Given the description of an element on the screen output the (x, y) to click on. 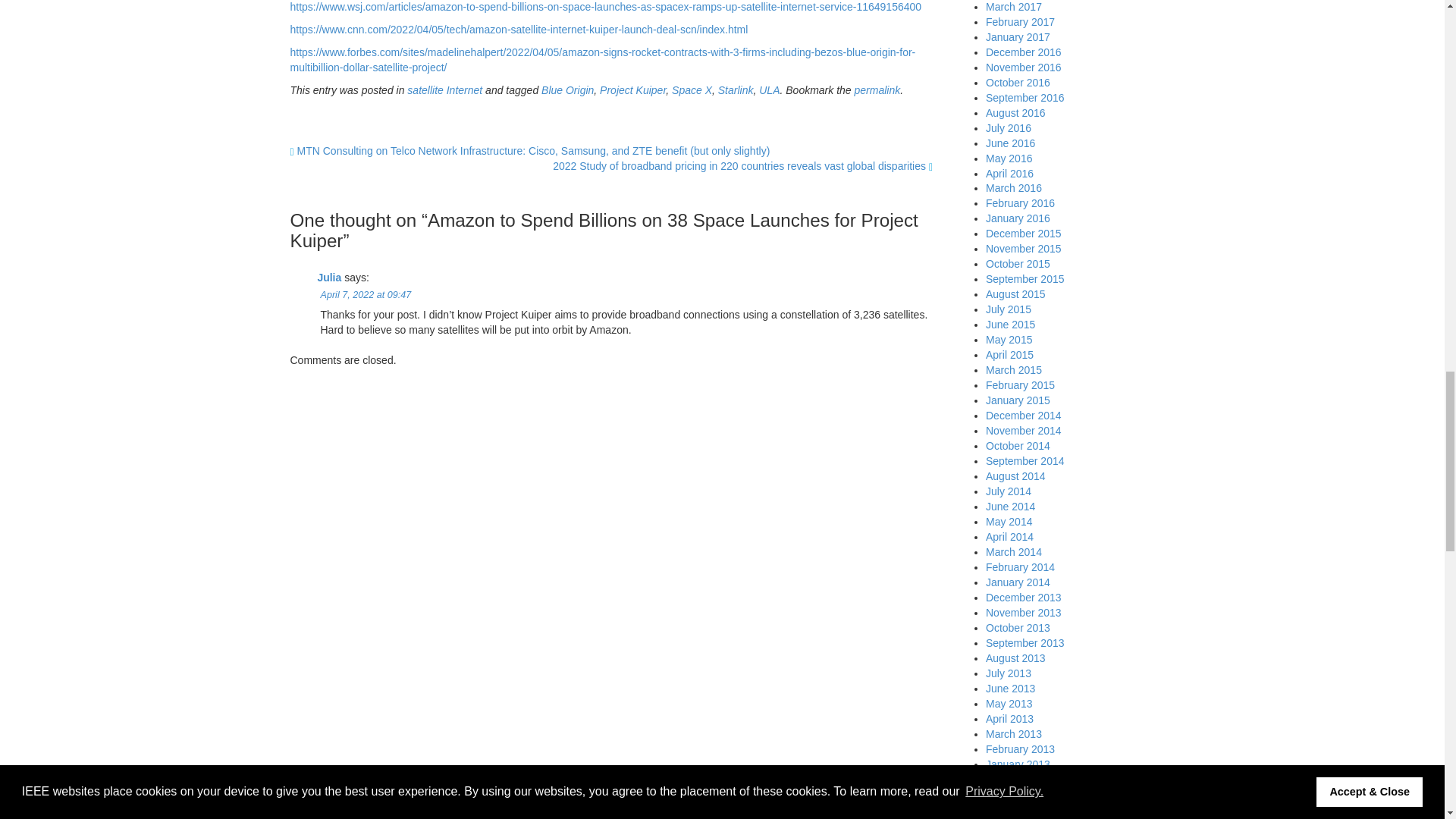
Blue Origin (567, 90)
Project Kuiper (632, 90)
permalink (877, 90)
Space X (691, 90)
satellite Internet (444, 90)
April 7, 2022 at 09:47 (365, 294)
Julia (328, 277)
ULA (768, 90)
Starlink (735, 90)
